Given the description of an element on the screen output the (x, y) to click on. 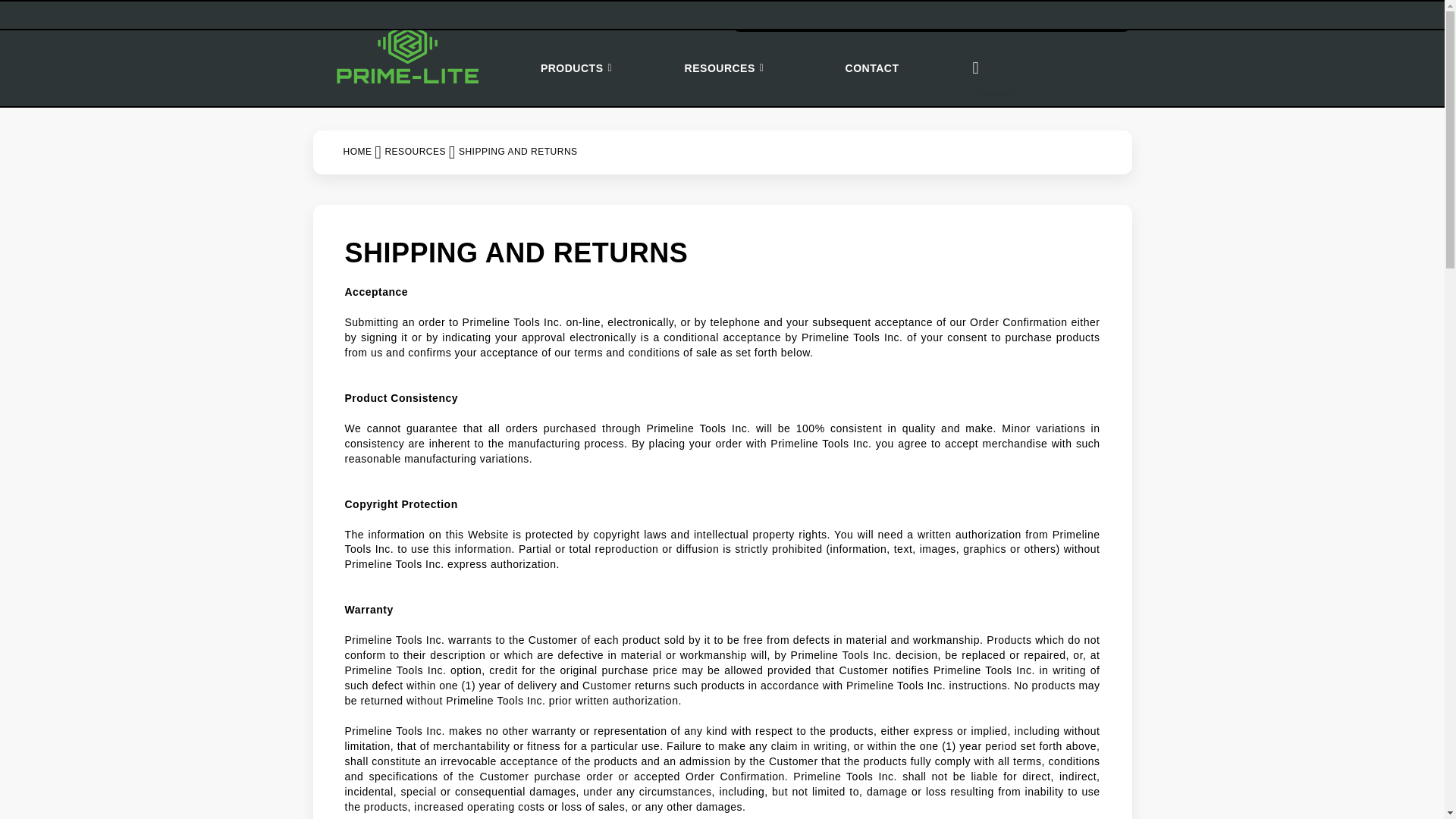
PRODUCTS (575, 68)
SIGN IN (1044, 16)
RESOURCES (414, 151)
HOME (356, 151)
Primelite (407, 53)
Go to Home Page (356, 151)
RESOURCES (724, 67)
CONTACT (872, 68)
